Given the description of an element on the screen output the (x, y) to click on. 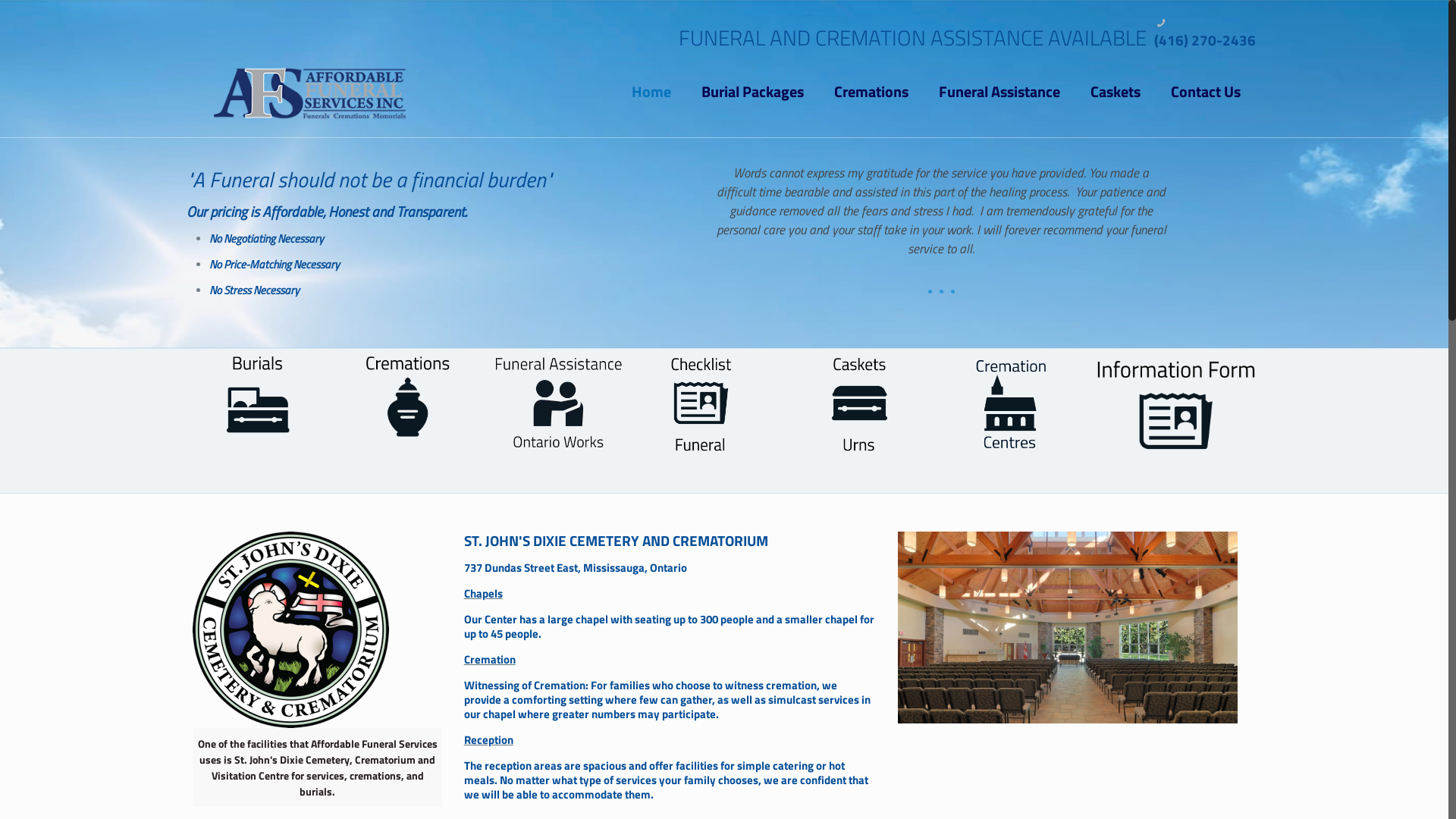
Funeral Assistance Element type: text (999, 91)
(416) 270-2436 Element type: text (1204, 47)
Cremations Element type: text (871, 91)
Contact Us Element type: text (1205, 91)
Caskets Element type: text (1115, 91)
Affordable Funeral Services Element type: hover (309, 91)
Home Element type: text (651, 91)
Burial Packages Element type: text (752, 91)
